Given the description of an element on the screen output the (x, y) to click on. 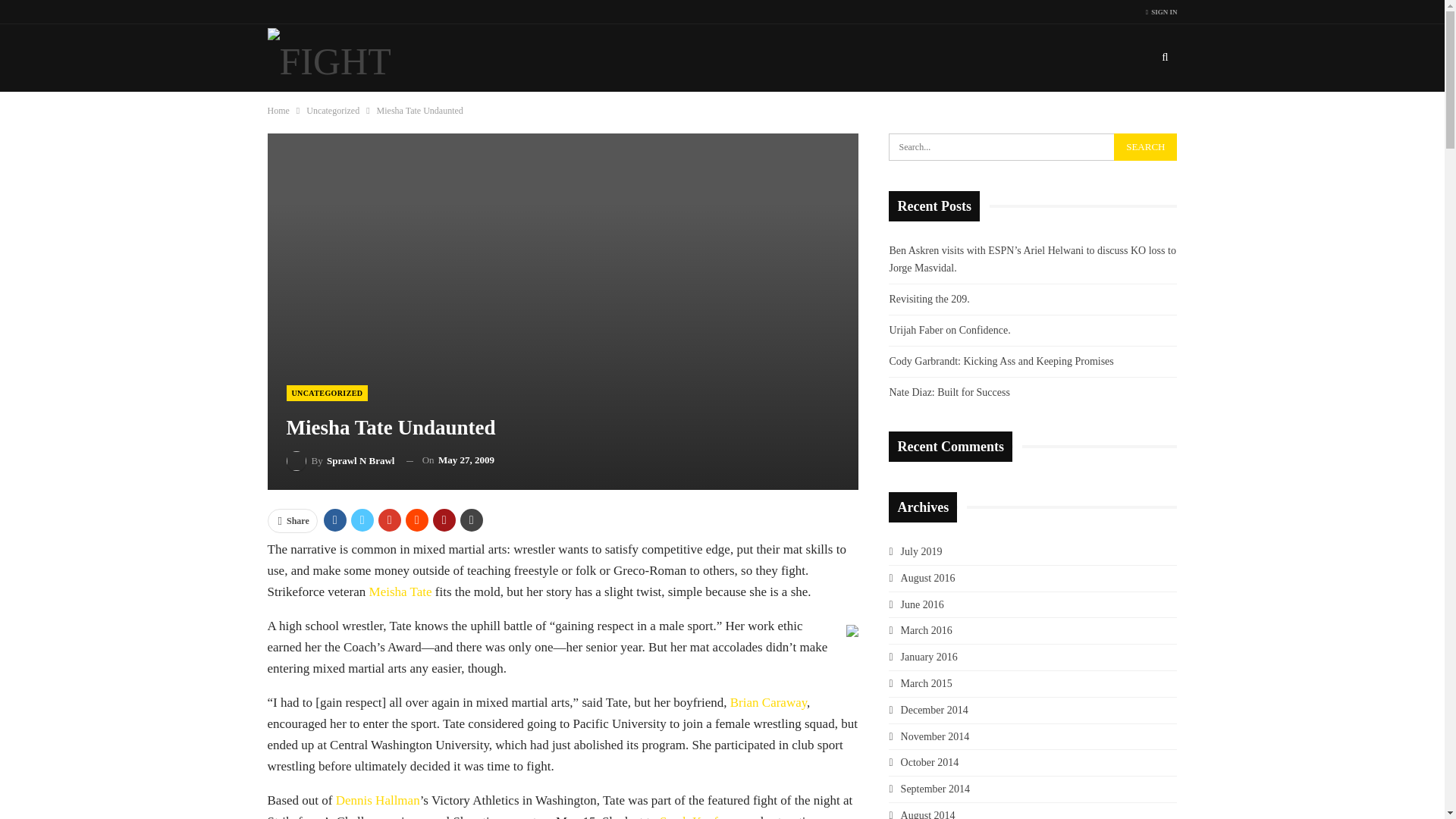
Brian Caraway (768, 702)
Dennis Hallman (378, 800)
Uncategorized (332, 110)
Search (1144, 146)
Home (277, 110)
Browse Author Articles (340, 460)
SIGN IN (1161, 12)
Search (1144, 146)
Sarah Kaufman (699, 816)
Meisha Tate (400, 591)
